Given the description of an element on the screen output the (x, y) to click on. 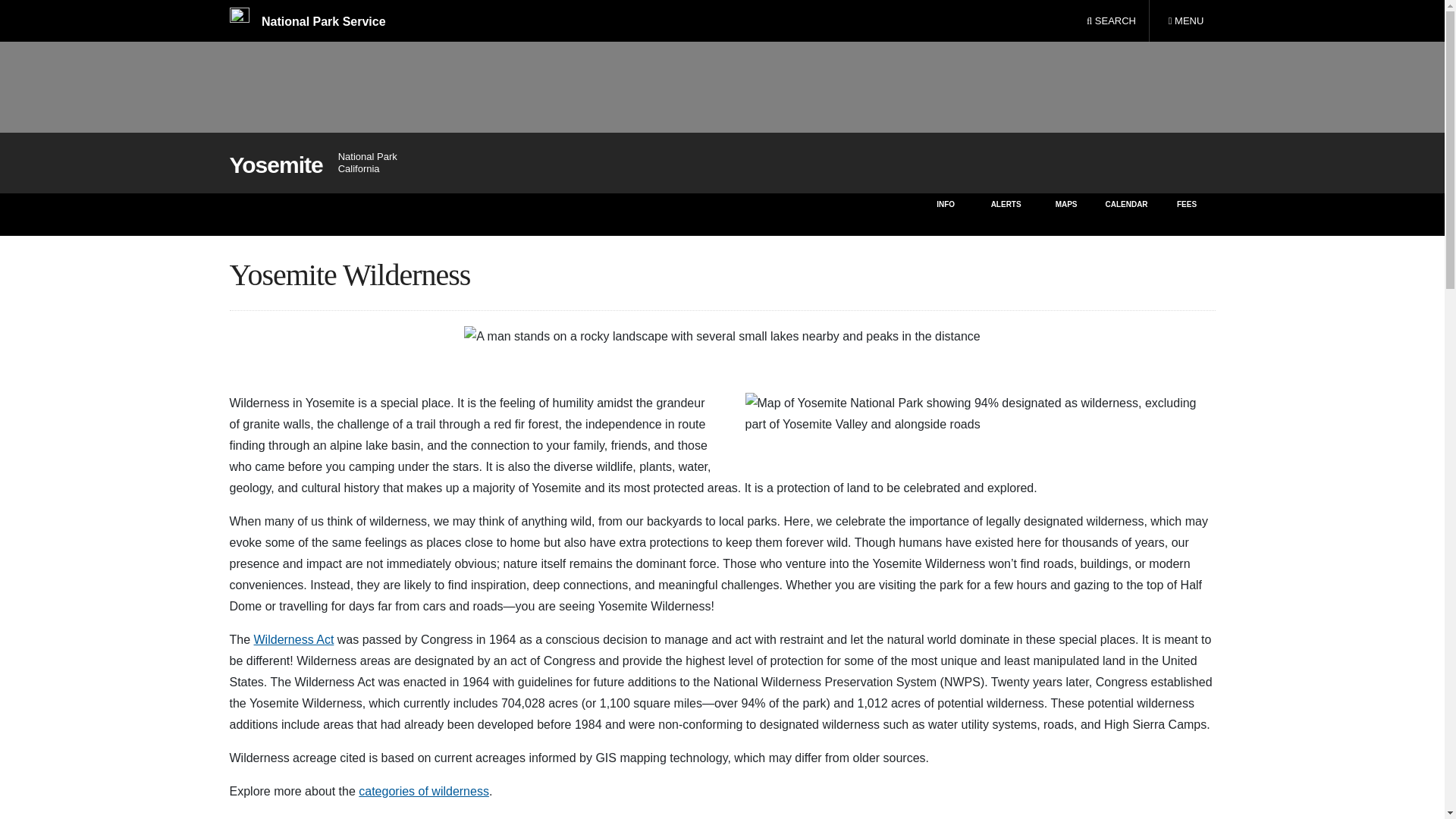
ALERTS (1004, 214)
National Park Service (307, 20)
MAPS (1066, 214)
CALENDAR (1125, 214)
categories of wilderness (423, 790)
FEES (1185, 20)
SEARCH (1186, 214)
INFO (1111, 20)
Yosemite (945, 214)
